Given the description of an element on the screen output the (x, y) to click on. 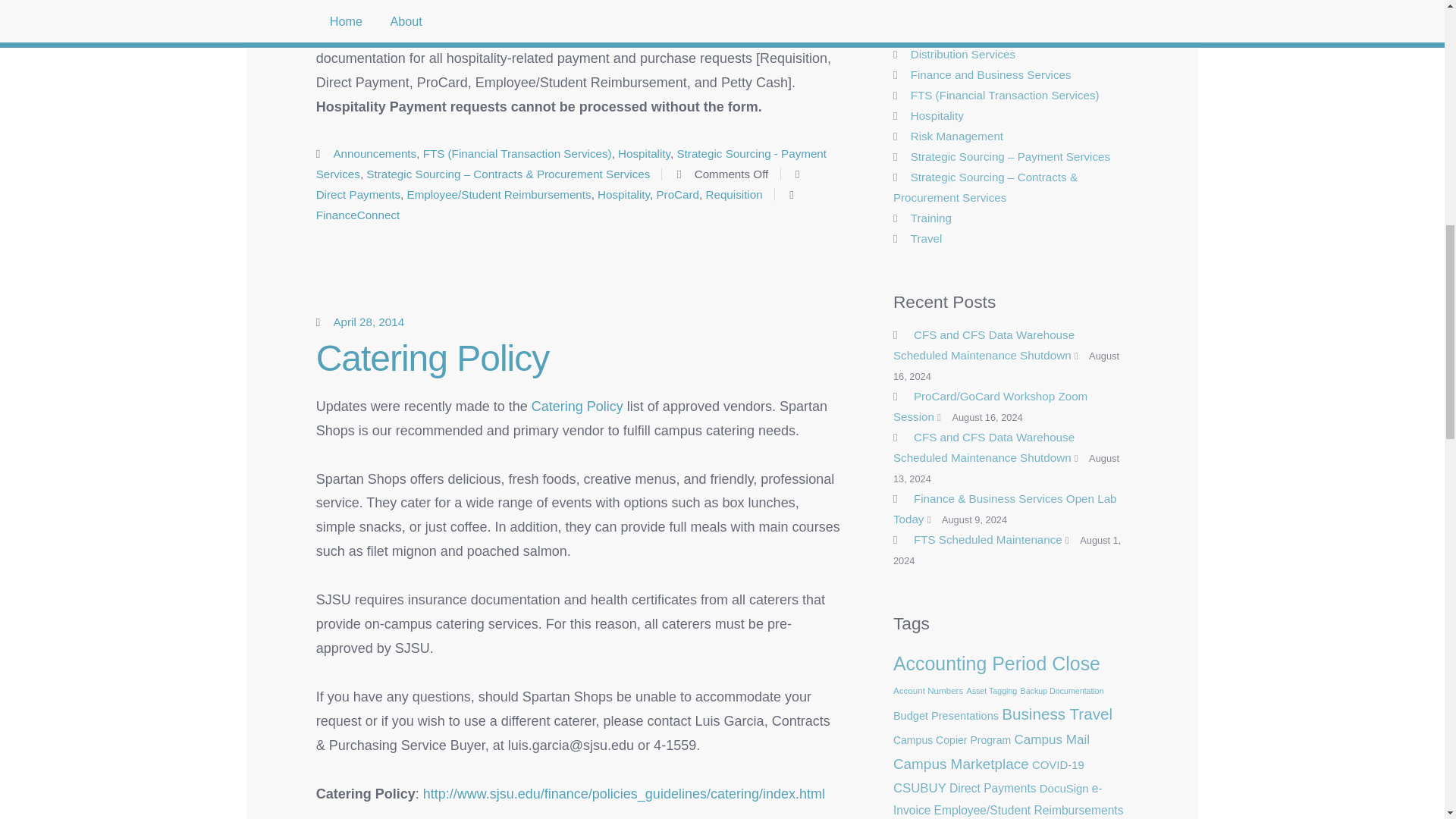
Permalink to Catering Policy (432, 358)
Requisition (732, 194)
Direct Payments (357, 194)
Strategic Sourcing - Payment Services (571, 163)
Hospitality (643, 153)
Announcements (374, 153)
Catering Policy (577, 406)
ProCard (677, 194)
FinanceConnect (357, 214)
Posts by FinanceConnect (357, 214)
